Given the description of an element on the screen output the (x, y) to click on. 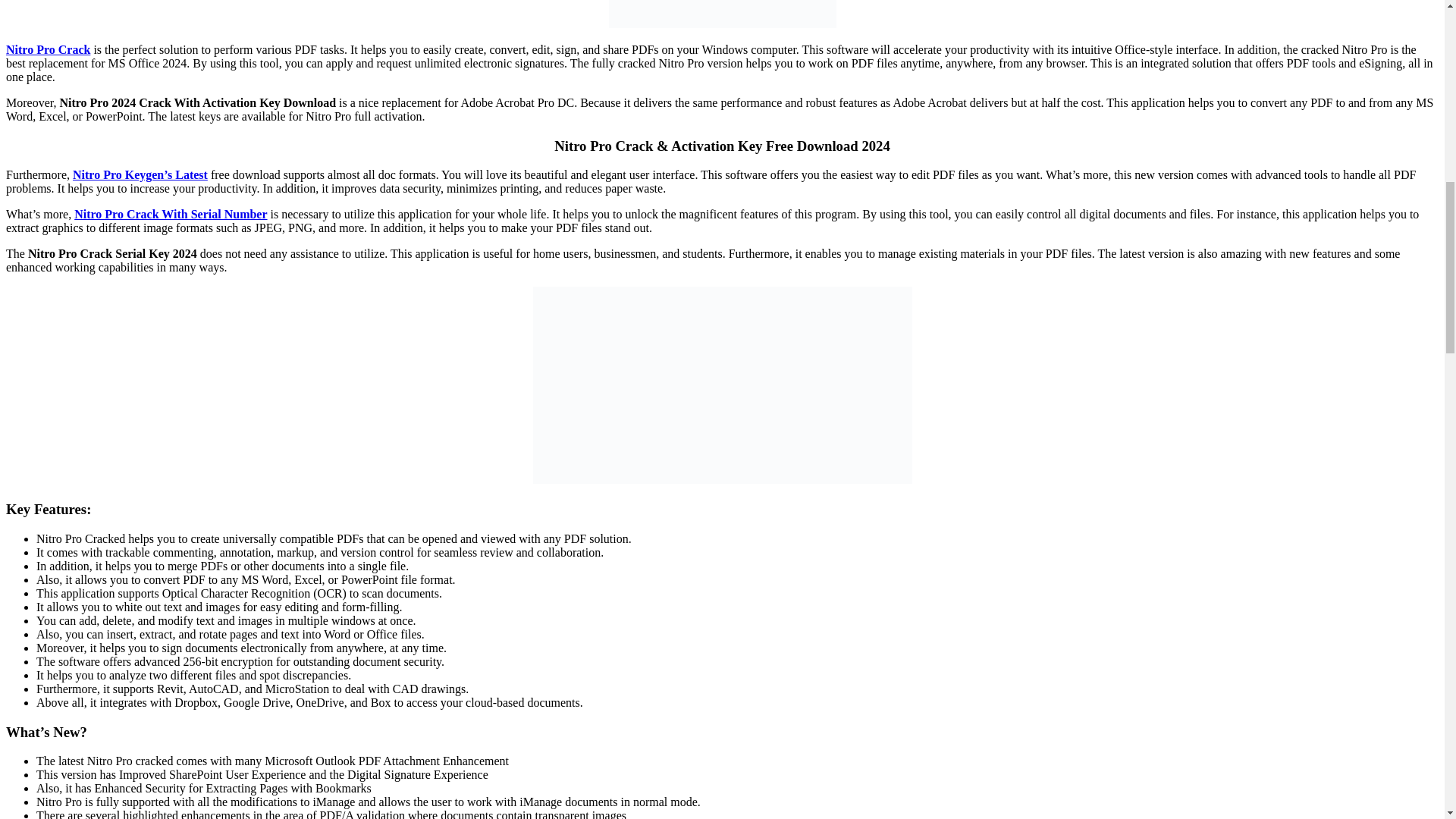
Nitro Pro Crack (47, 49)
Nitro Pro Crack With Serial Number (170, 214)
